Given the description of an element on the screen output the (x, y) to click on. 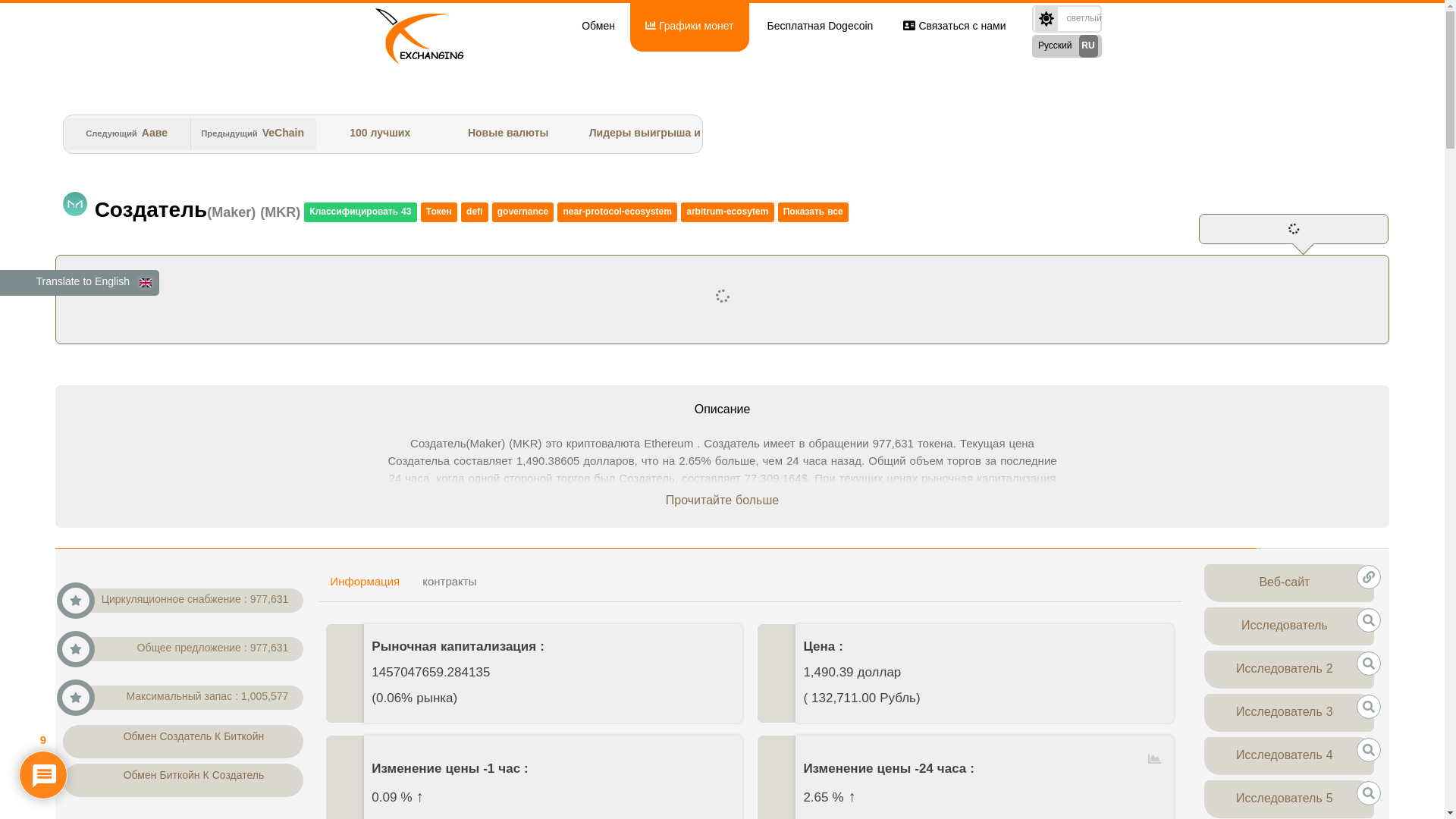
governance Element type: text (523, 212)
arbitrum-ecosytem Element type: text (726, 212)
defi Element type: text (474, 212)
VeChain Element type: text (283, 132)
Translate to English Element type: text (79, 282)
near-protocol-ecosystem Element type: text (617, 212)
EXCHANGING Element type: text (421, 27)
